Given the description of an element on the screen output the (x, y) to click on. 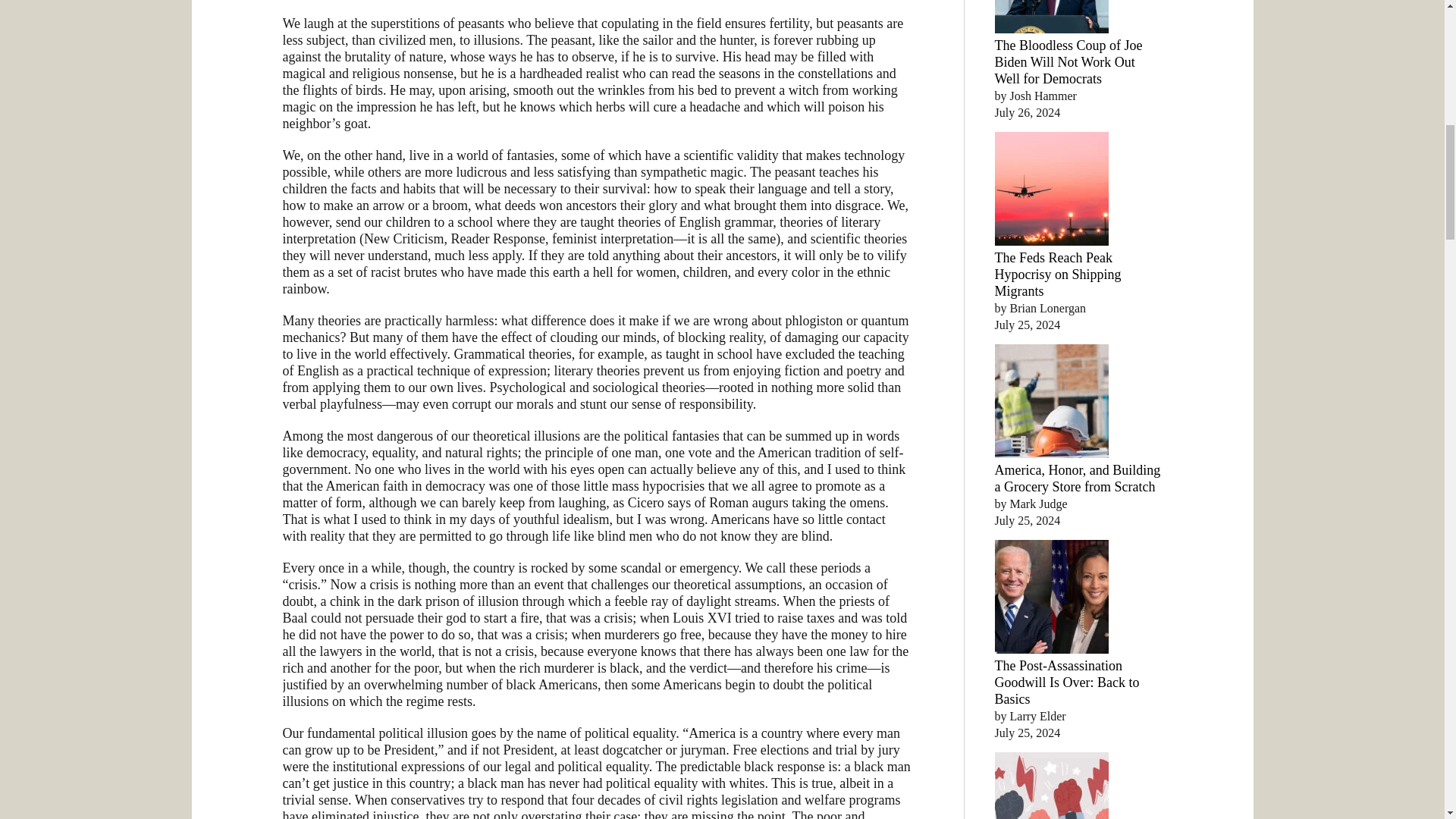
America, Honor, and Building a Grocery Store from Scratch (1077, 478)
The Post-Assassination Goodwill Is Over: Back to Basics (1067, 682)
The Feds Reach Peak Hypocrisy on Shipping Migrants (1057, 274)
